Given the description of an element on the screen output the (x, y) to click on. 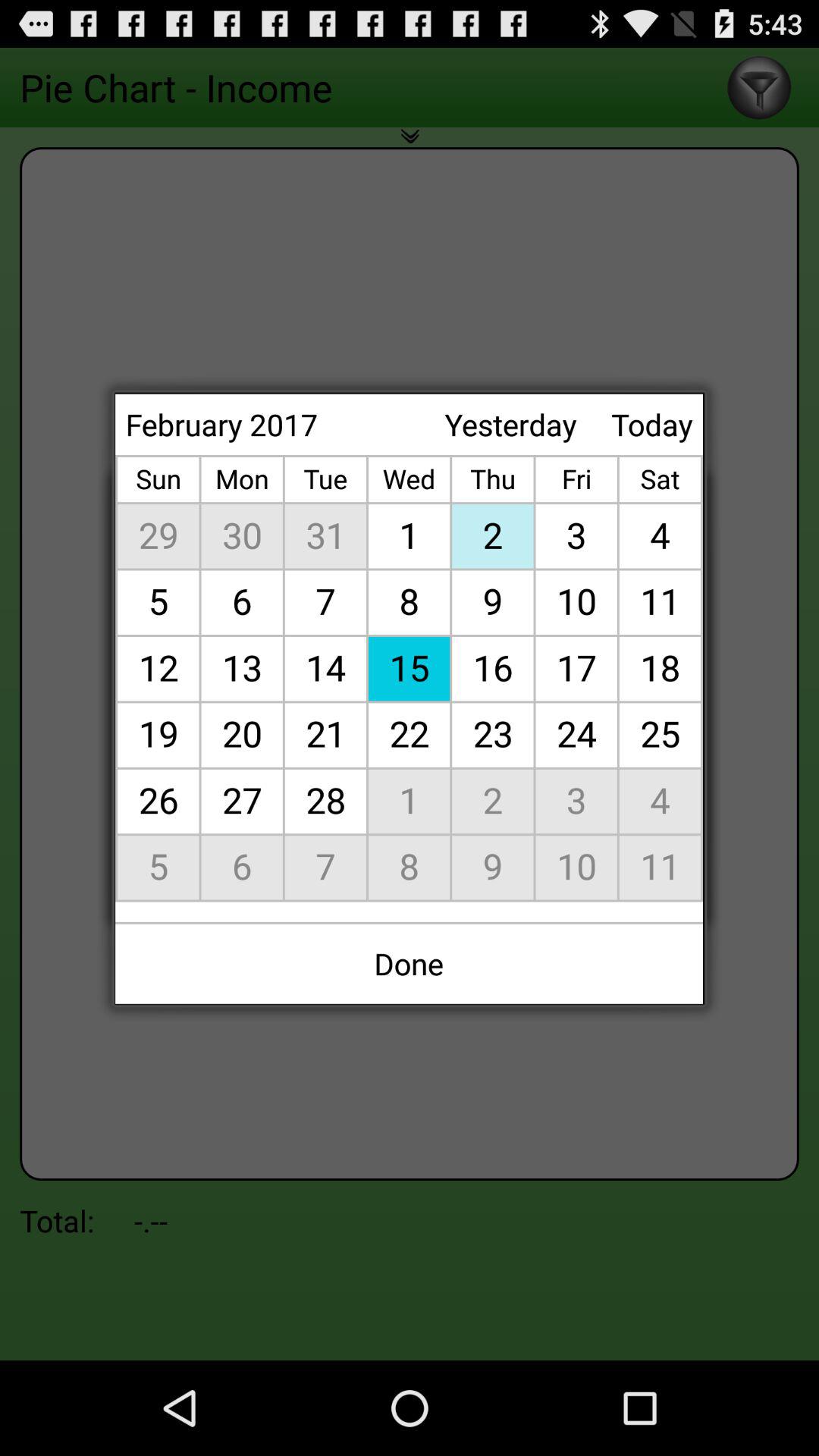
turn on the done icon (408, 963)
